Given the description of an element on the screen output the (x, y) to click on. 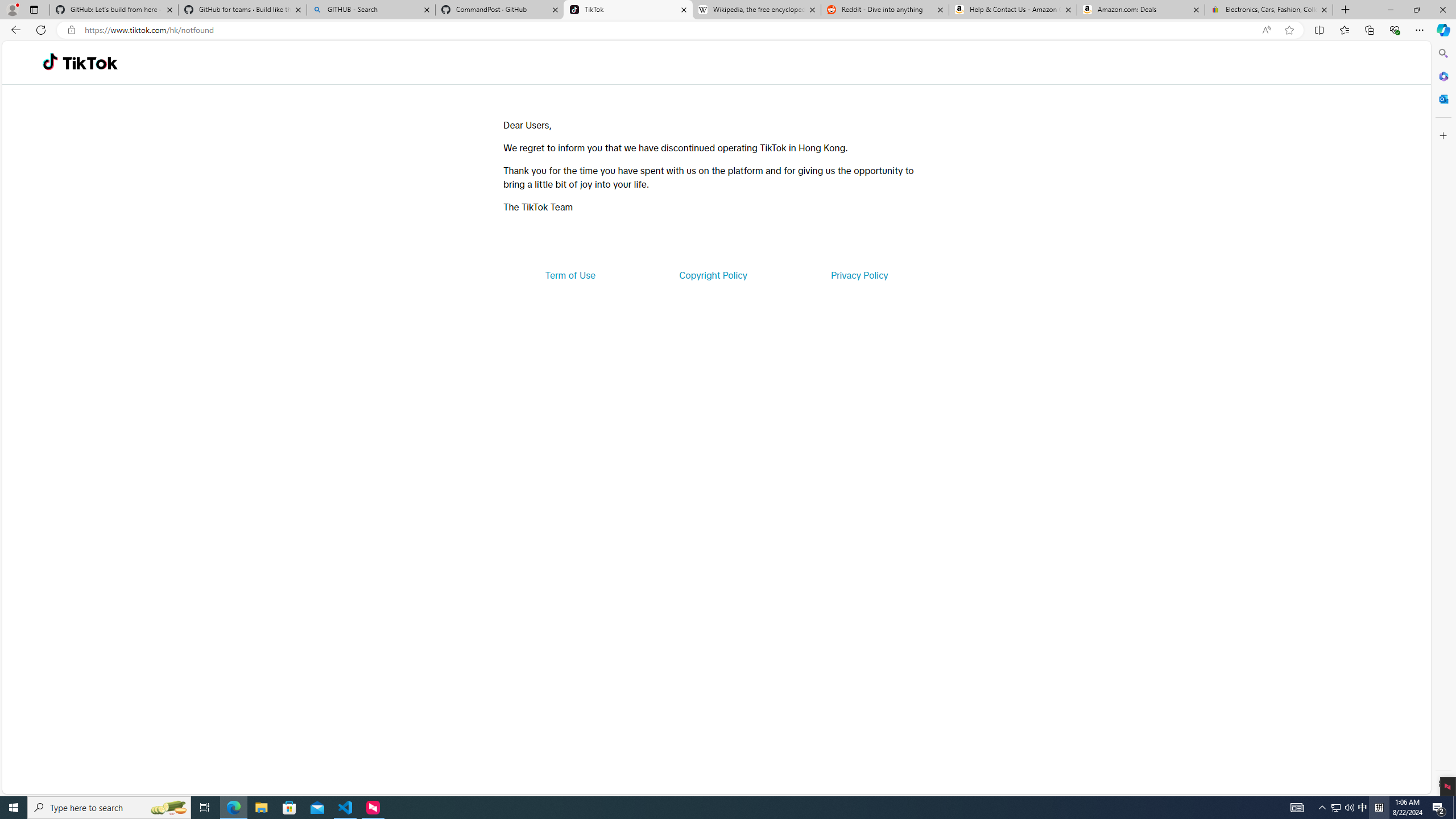
Search (1442, 53)
Favorites (1344, 29)
Copilot (Ctrl+Shift+.) (1442, 29)
Microsoft 365 (1442, 76)
Reddit - Dive into anything (884, 9)
Add this page to favorites (Ctrl+D) (1289, 29)
Tab actions menu (33, 9)
Browser essentials (1394, 29)
Minimize (1390, 9)
Term of Use (569, 274)
Copyright Policy (712, 274)
Privacy Policy (858, 274)
Customize (1442, 135)
